Given the description of an element on the screen output the (x, y) to click on. 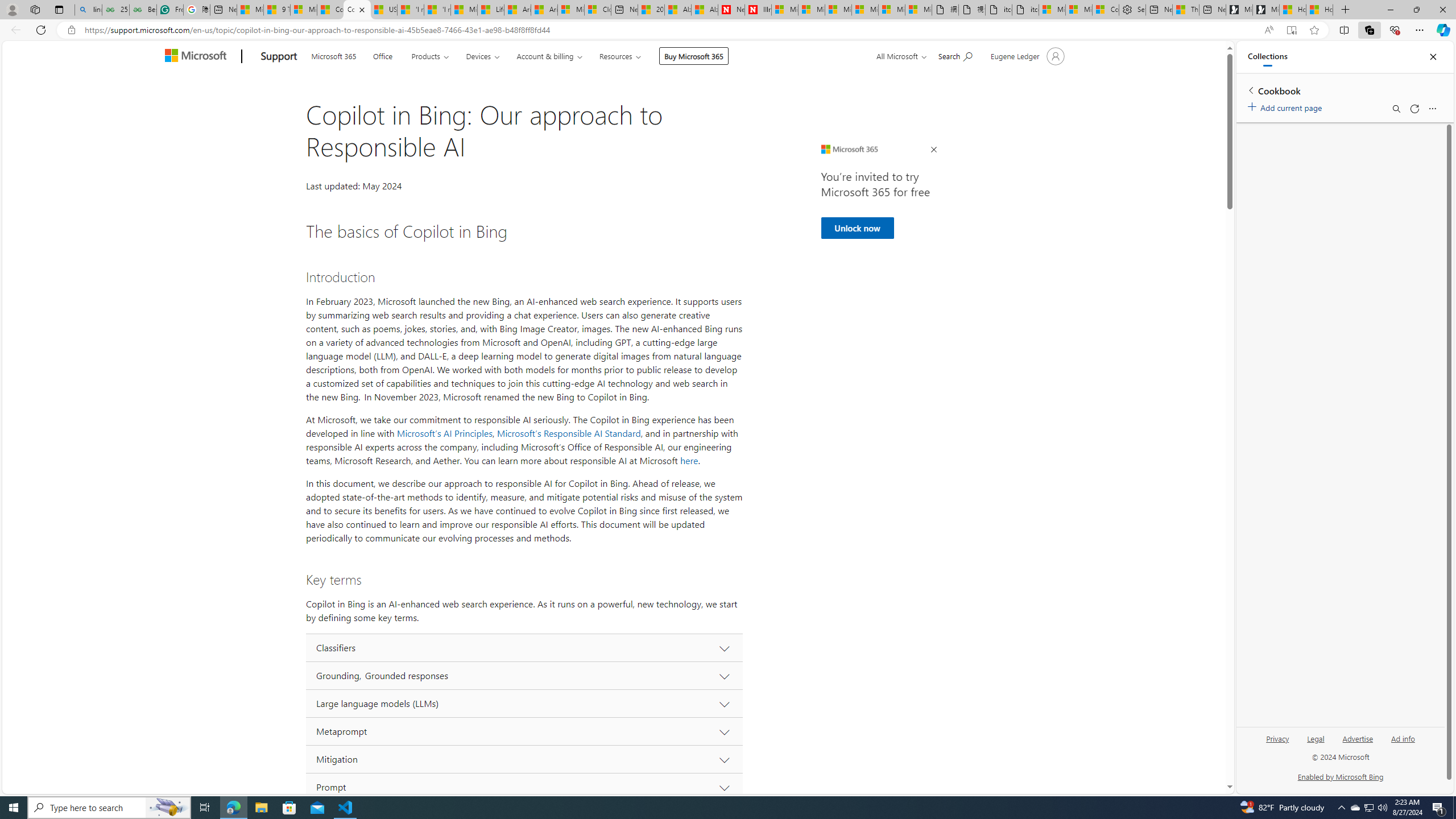
Close Ad (933, 149)
Lifestyle - MSN (491, 9)
Support (278, 56)
Microsoft (197, 56)
itconcepthk.com/projector_solutions.mp4 (1025, 9)
Cloud Computing Services | Microsoft Azure (597, 9)
